Given the description of an element on the screen output the (x, y) to click on. 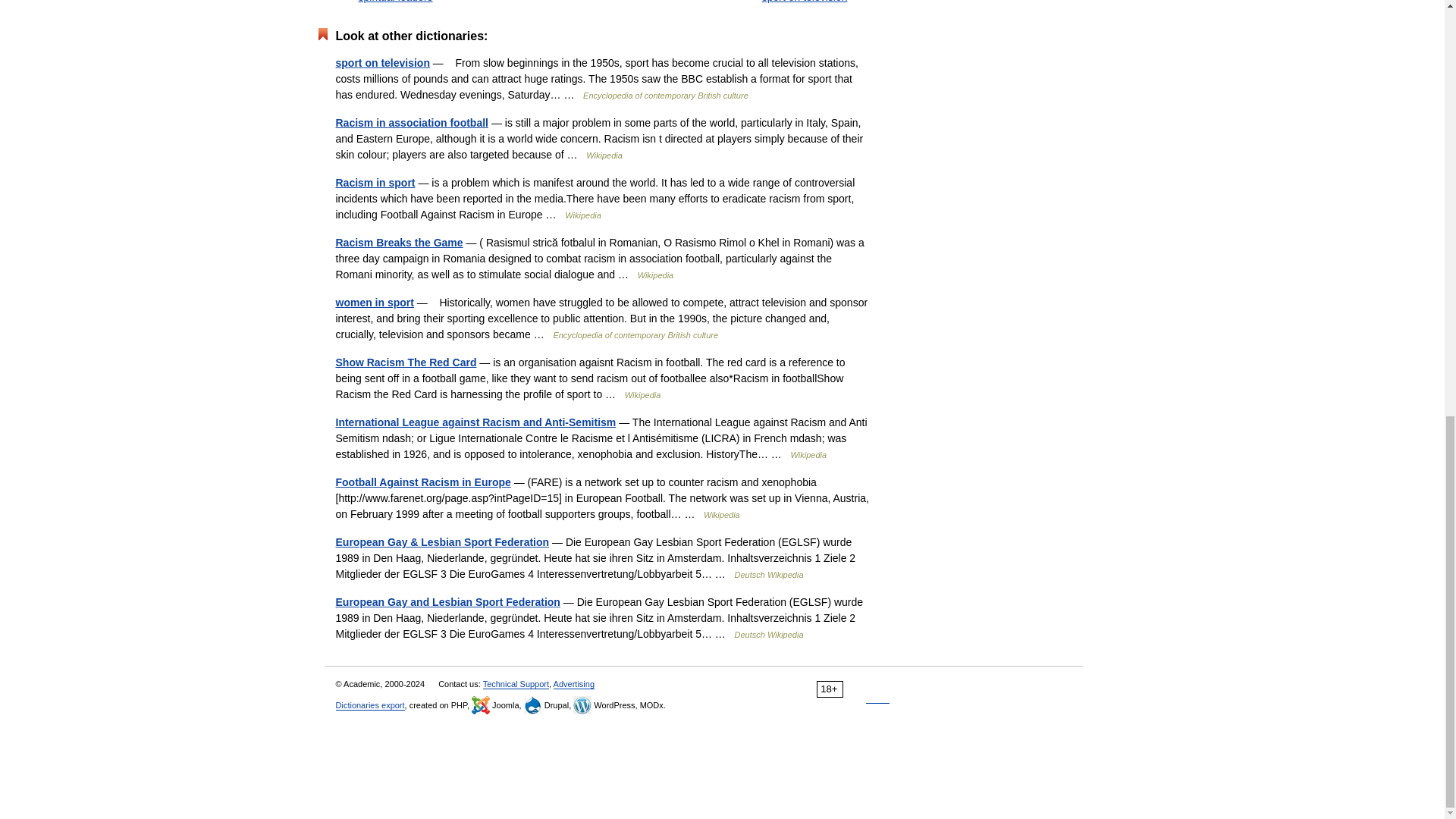
sport on television (804, 1)
International League against Racism and Anti-Semitism (474, 422)
women in sport (373, 302)
LiveInternet (877, 689)
Football Against Racism in Europe (422, 481)
sport on television (381, 62)
Racism in association football (410, 122)
spiritual leaders (395, 1)
Racism Breaks the Game (398, 242)
Show Racism The Red Card (405, 362)
Racism in sport (374, 182)
European Gay and Lesbian Sport Federation (446, 602)
Advertising (573, 684)
spiritual leaders (395, 1)
Technical Support (515, 684)
